Given the description of an element on the screen output the (x, y) to click on. 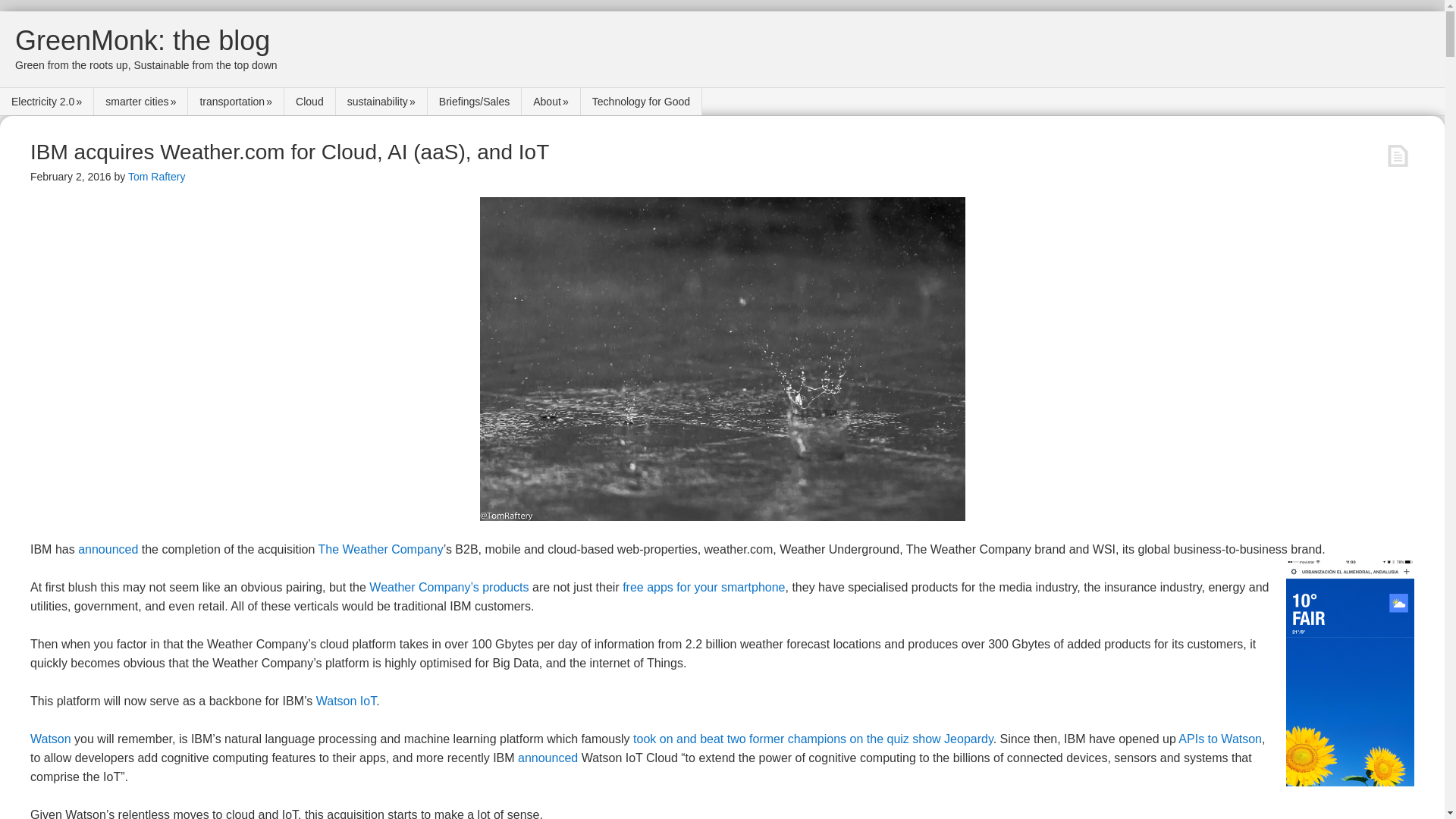
announced (108, 549)
Electricity 2.0 (47, 101)
sustainability (382, 101)
Tom Raftery (156, 176)
Cloud (309, 101)
transportation (235, 101)
GreenMonk: the blog (141, 40)
Technology for Good (640, 101)
GreenMonk: the blog (141, 40)
About (550, 101)
The Weather Company (381, 549)
smarter cities (140, 101)
